Given the description of an element on the screen output the (x, y) to click on. 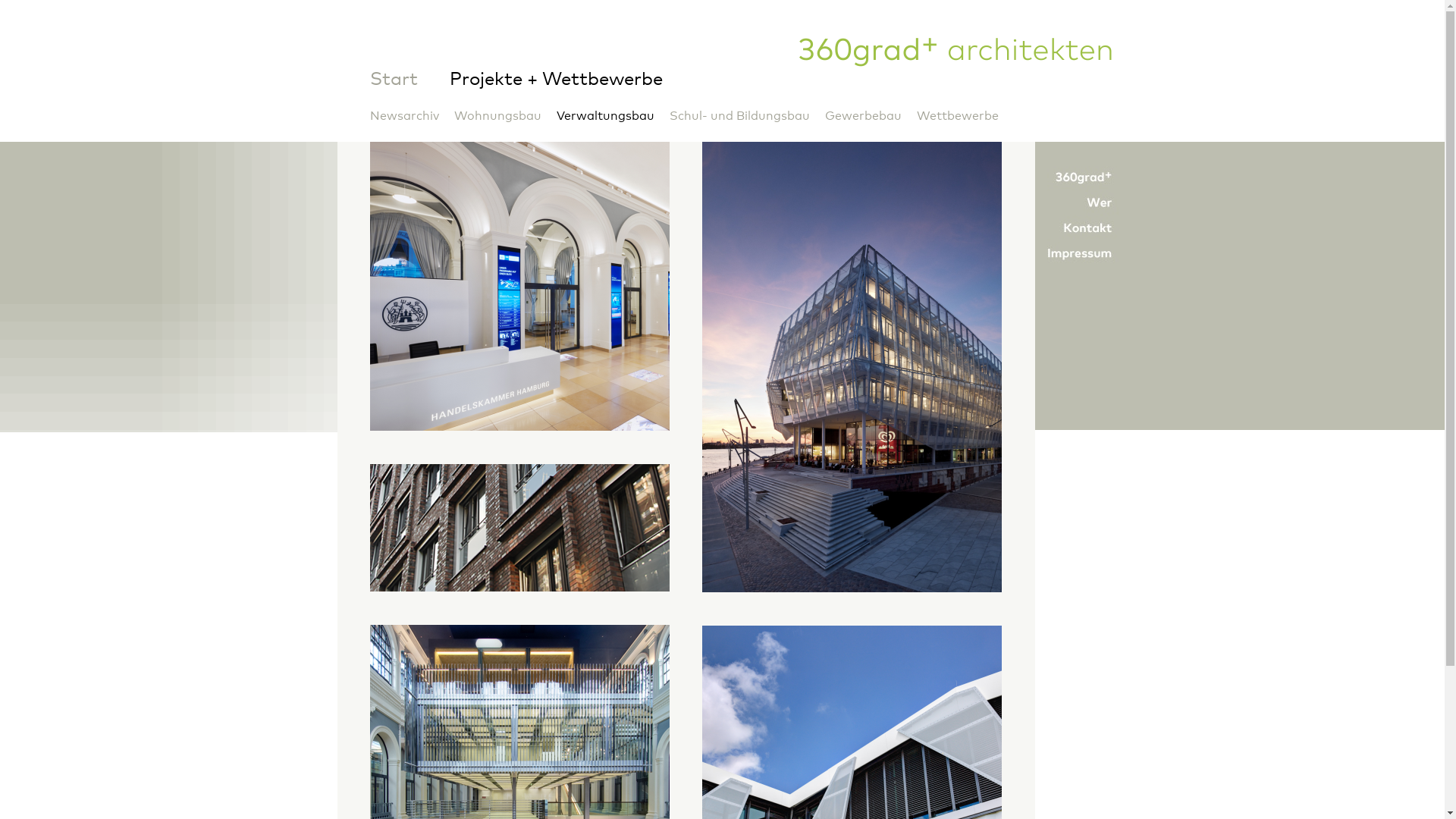
Start Element type: text (393, 79)
Gewerbebau Element type: text (863, 115)
Wettbewerbe Element type: text (957, 115)
Schul- und Bildungsbau Element type: text (739, 115)
  Element type: text (851, 565)
  Element type: text (519, 406)
OPa Element type: text (956, 48)
Newsarchiv Element type: text (404, 115)
Wohnungsbau Element type: text (497, 115)
  Element type: text (519, 567)
